Given the description of an element on the screen output the (x, y) to click on. 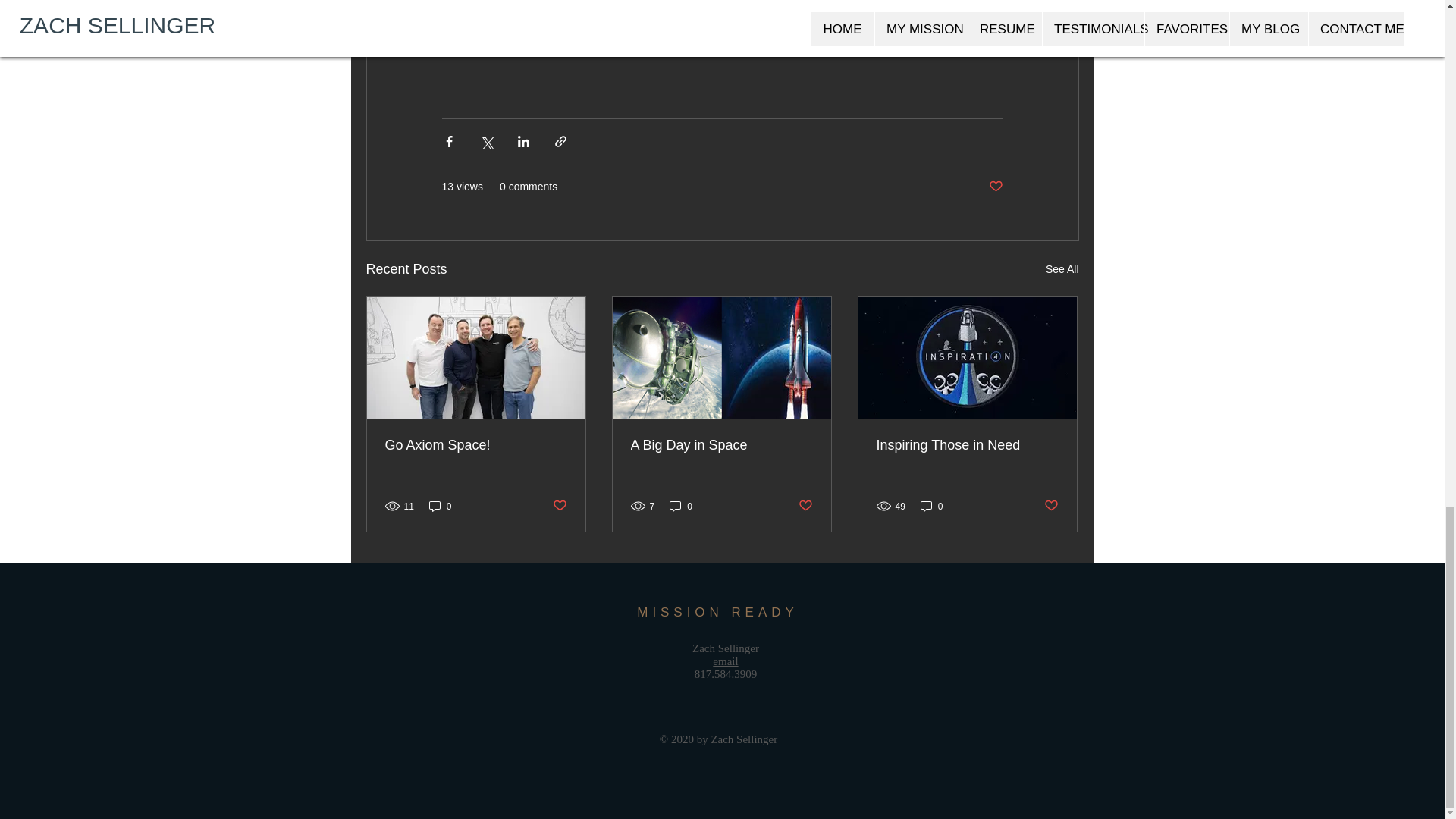
0 (440, 505)
Post not marked as liked (995, 186)
0 (681, 505)
Post not marked as liked (804, 505)
A Big Day in Space (721, 445)
See All (1061, 269)
0 (931, 505)
Go Axiom Space! (476, 445)
email (725, 661)
Inspiring Those in Need (967, 445)
